Given the description of an element on the screen output the (x, y) to click on. 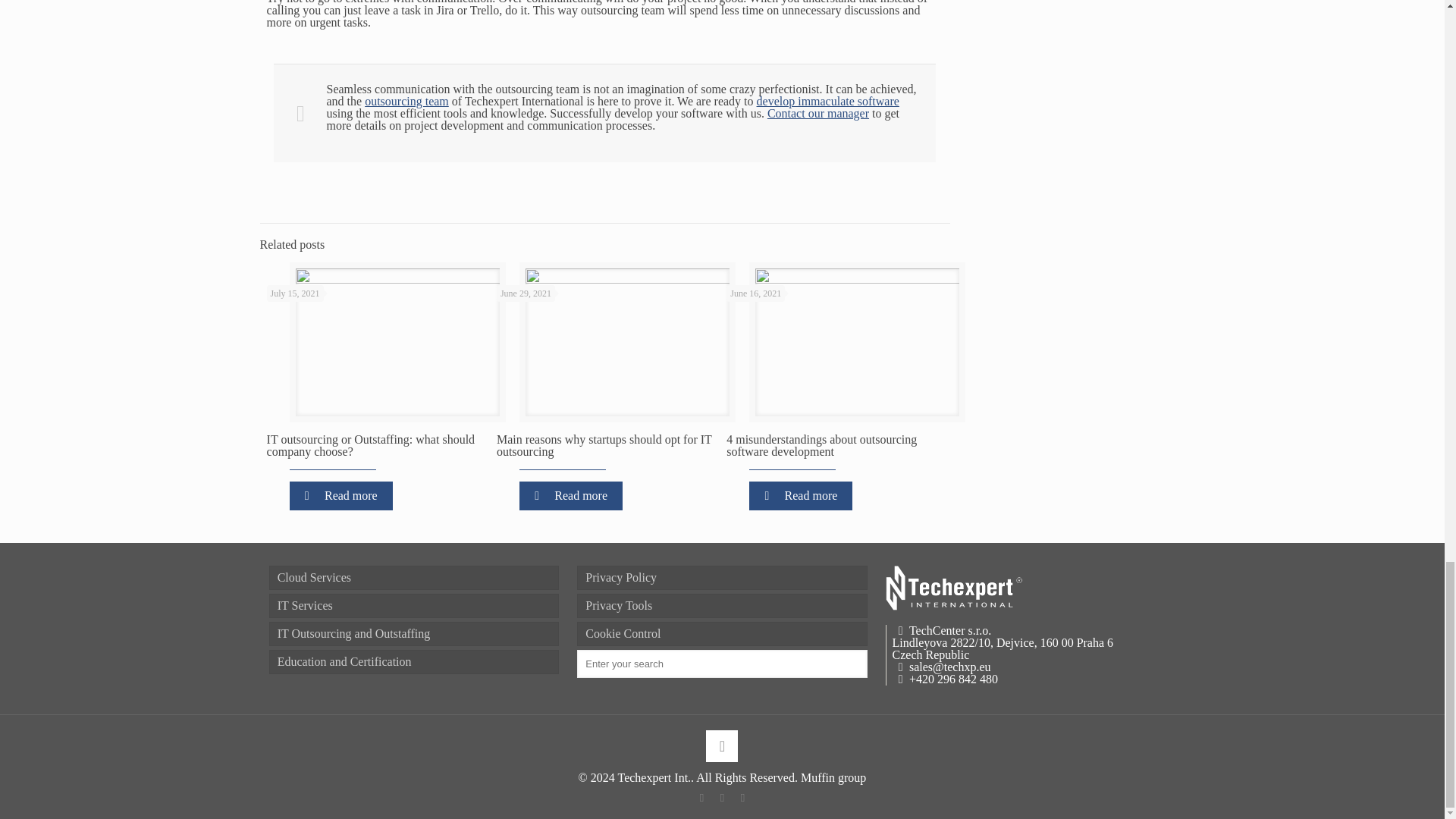
LinkedIn (743, 797)
Read more (341, 495)
develop immaculate software (828, 101)
Contact our manager (818, 113)
Twitter (722, 797)
Facebook (702, 797)
IT outsourcing or Outstaffing: what should company choose? (371, 445)
outsourcing team (406, 101)
